Given the description of an element on the screen output the (x, y) to click on. 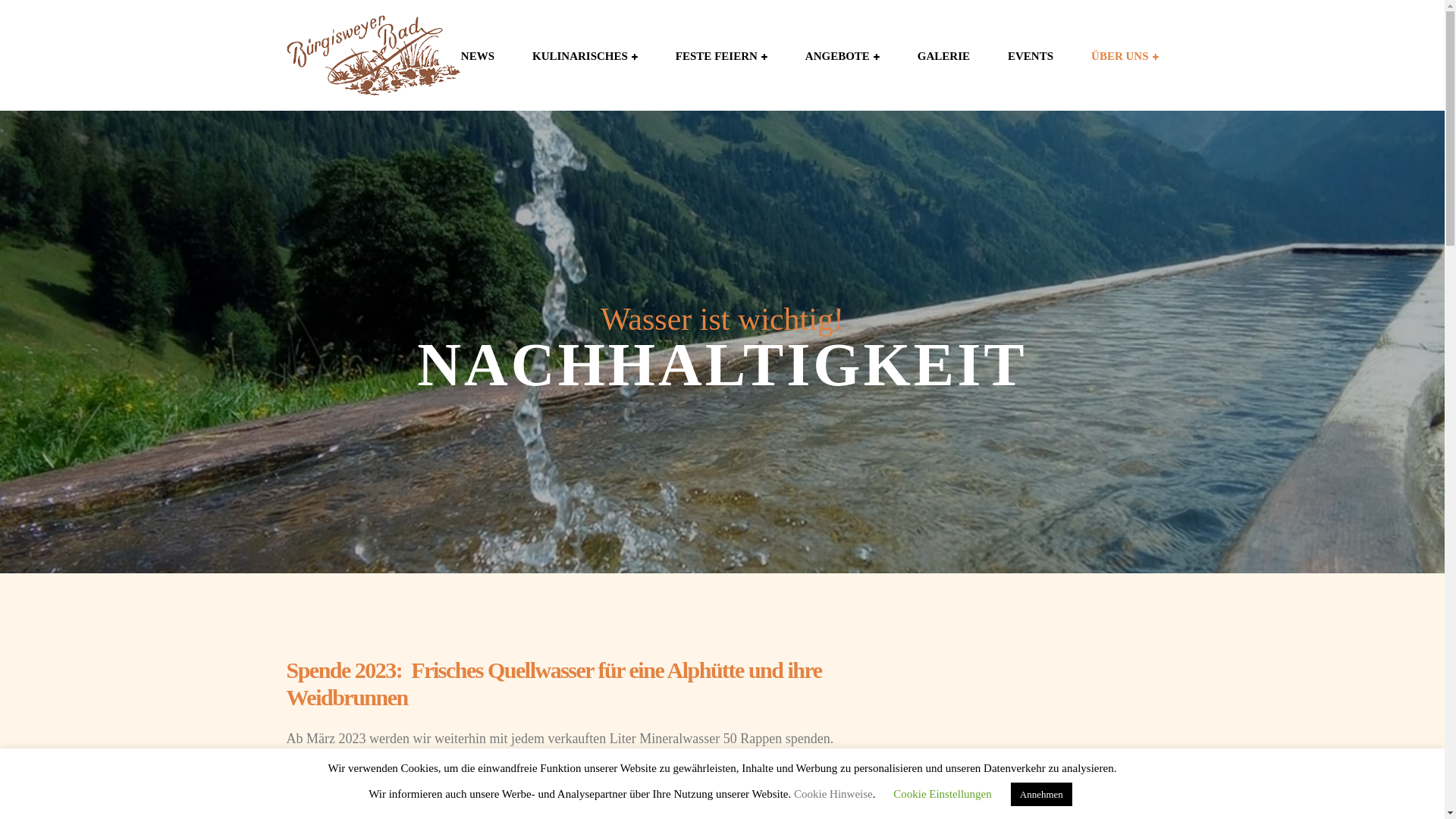
NEWS Element type: text (477, 56)
Annehmen Element type: text (1041, 794)
GALERIE Element type: text (943, 56)
ANGEBOTE Element type: text (842, 56)
EVENTS Element type: text (1030, 56)
FESTE FEIERN Element type: text (721, 56)
Cookie Hinweise Element type: text (832, 793)
KULINARISCHES Element type: text (584, 56)
Cookie Einstellungen Element type: text (942, 793)
